Given the description of an element on the screen output the (x, y) to click on. 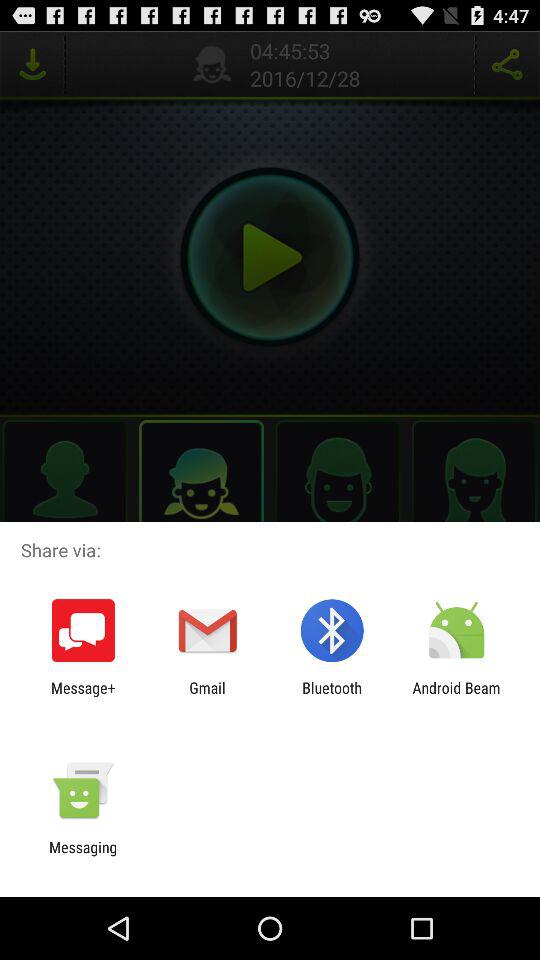
turn off app next to gmail app (331, 696)
